Given the description of an element on the screen output the (x, y) to click on. 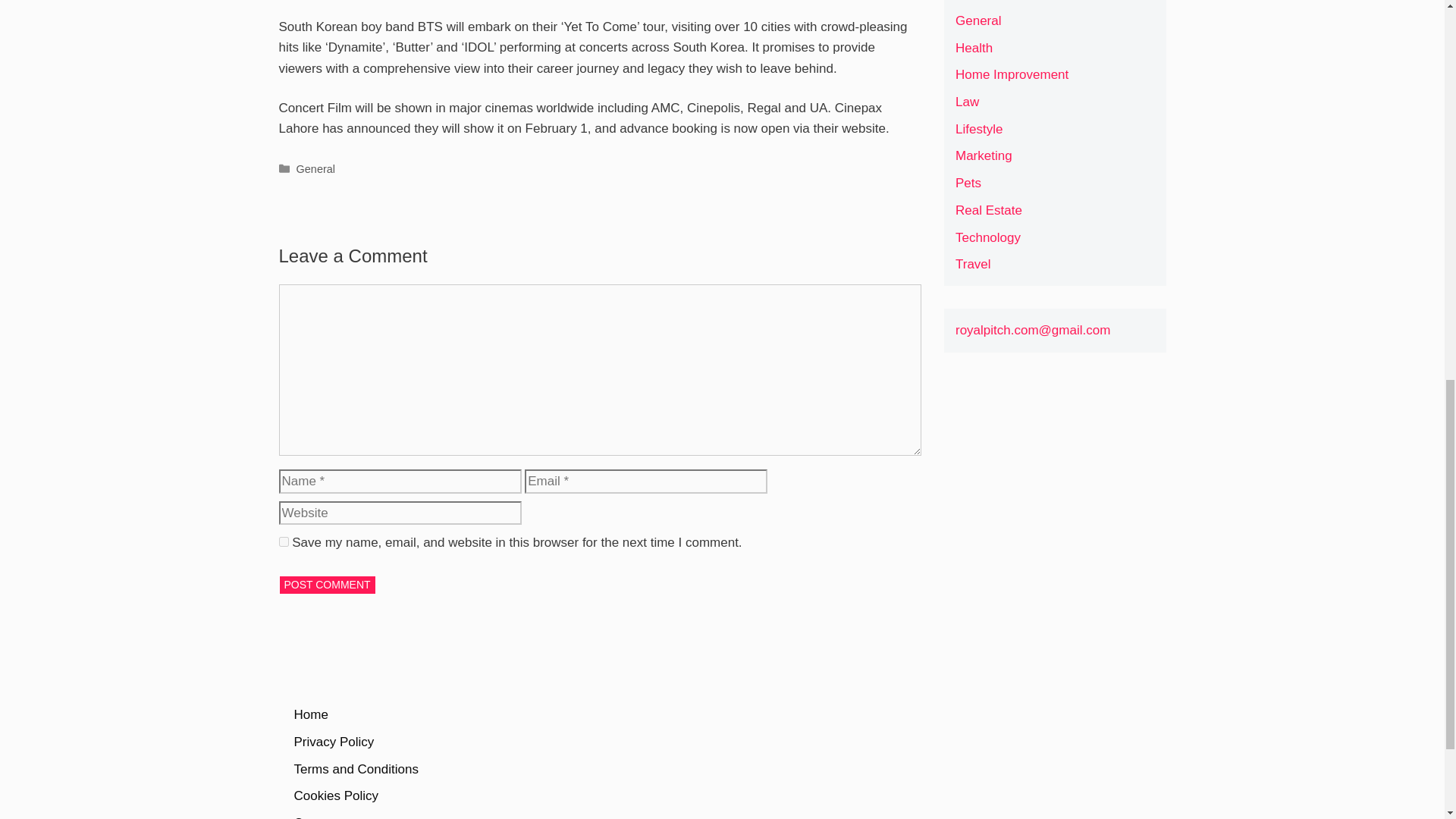
Gardening (984, 0)
Home Improvement (1011, 74)
Health (973, 47)
Law (966, 101)
General (315, 168)
Post Comment (327, 584)
Marketing (983, 155)
General (978, 20)
yes (283, 542)
Lifestyle (979, 129)
